Given the description of an element on the screen output the (x, y) to click on. 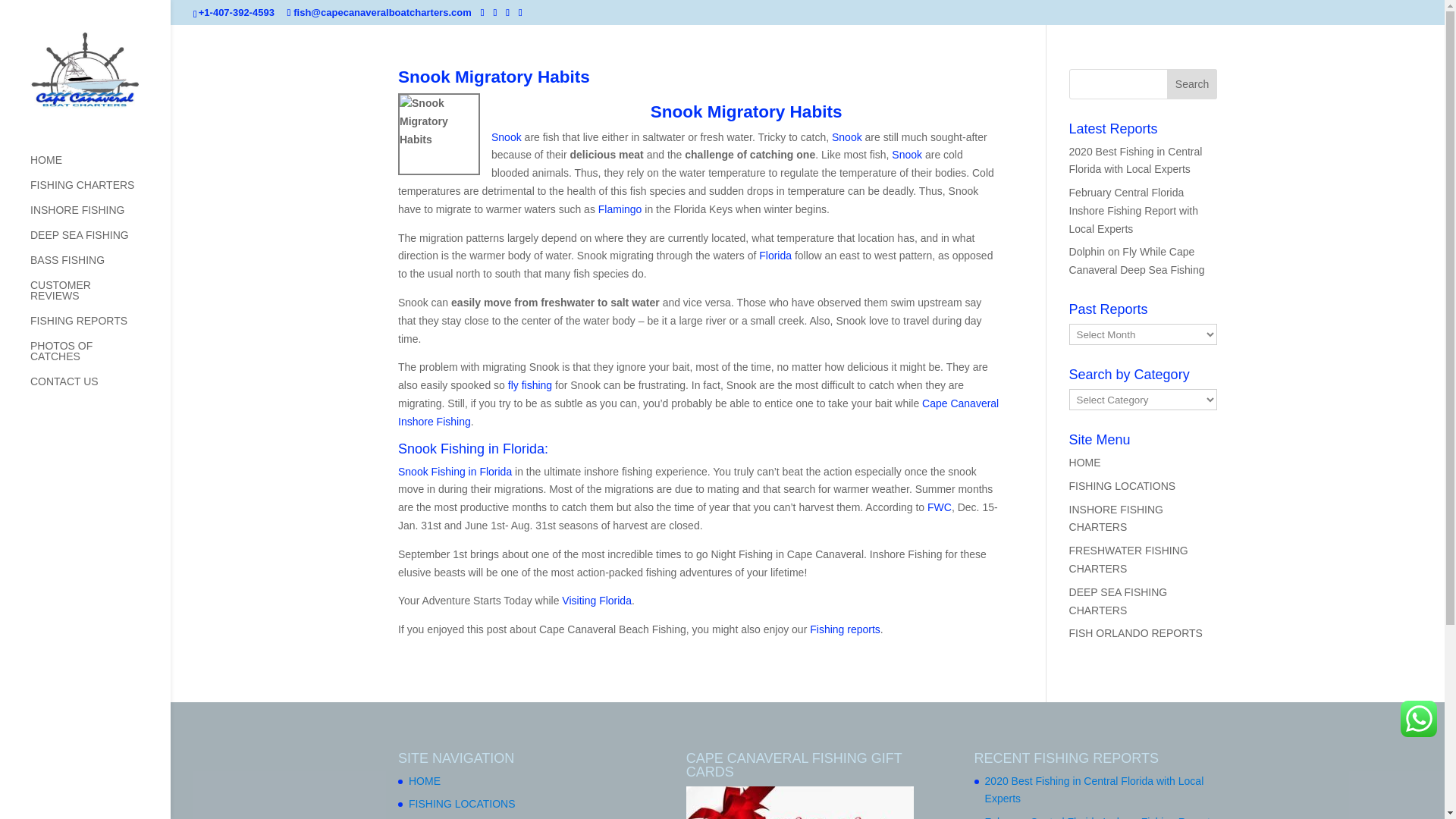
BASS FISHING (100, 267)
CUSTOMER REVIEWS (100, 297)
Cape Canaveral Inshore Fishing (697, 412)
fly fishing (528, 385)
INSHORE FISHING (100, 217)
Search (1192, 82)
DEEP SEA FISHING (100, 242)
FWC (939, 507)
CONTACT US (100, 388)
Flamingo (620, 209)
Snook (846, 137)
Snook (438, 134)
Snook (506, 137)
Snook Migratory Habits (493, 75)
FISHING CHARTERS (100, 191)
